Given the description of an element on the screen output the (x, y) to click on. 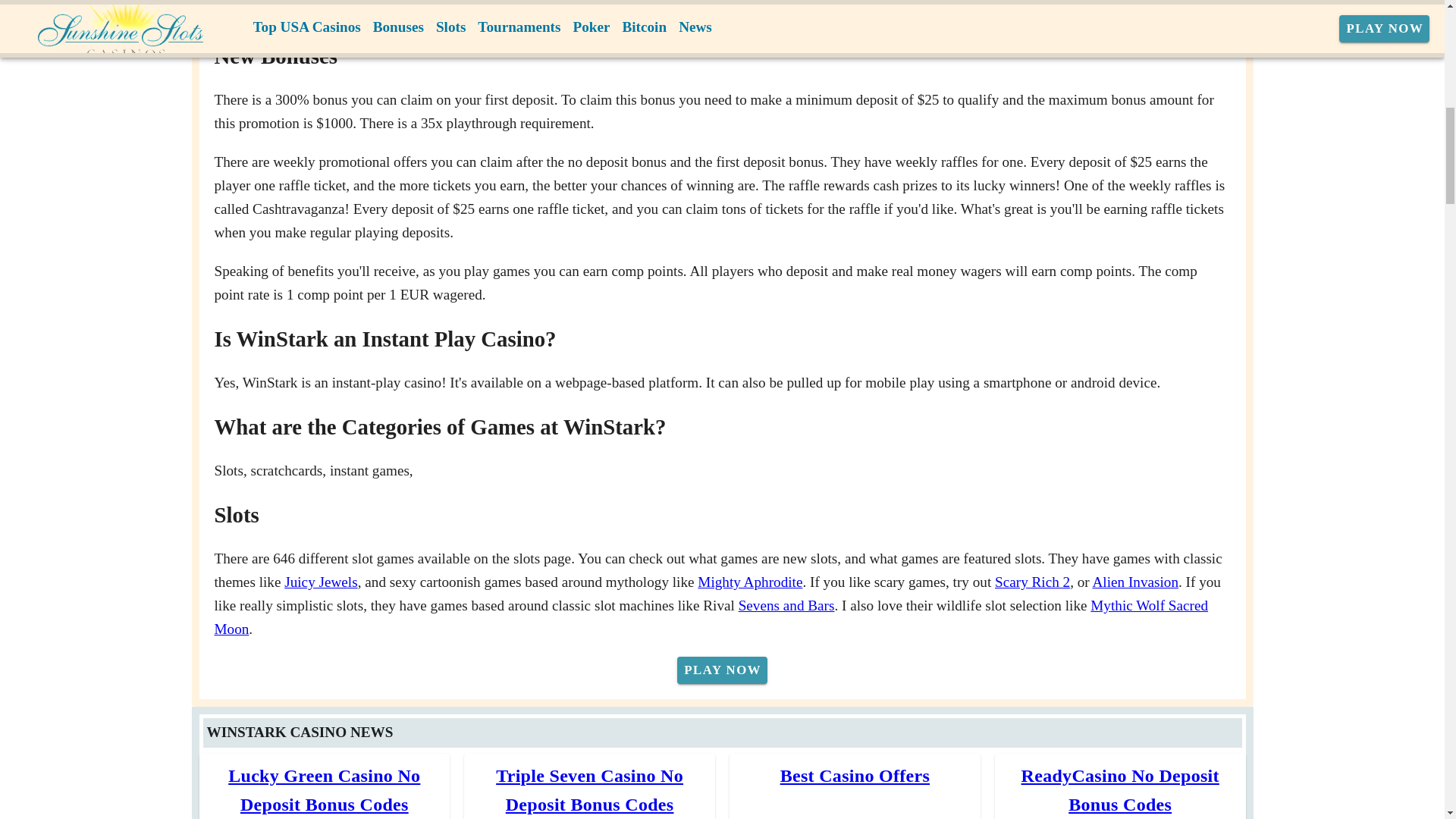
ReadyCasino No Deposit Bonus Codes (1121, 789)
Juicy Jewels (319, 581)
Mighty Aphrodite (749, 581)
PLAY NOW (722, 669)
Best Casino Offers (855, 775)
Alien Invasion (1134, 581)
Mythic Wolf Sacred Moon (711, 617)
Lucky Green Casino No Deposit Bonus Codes (324, 789)
Scary Rich 2 (1032, 581)
Sevens and Bars (786, 605)
